Given the description of an element on the screen output the (x, y) to click on. 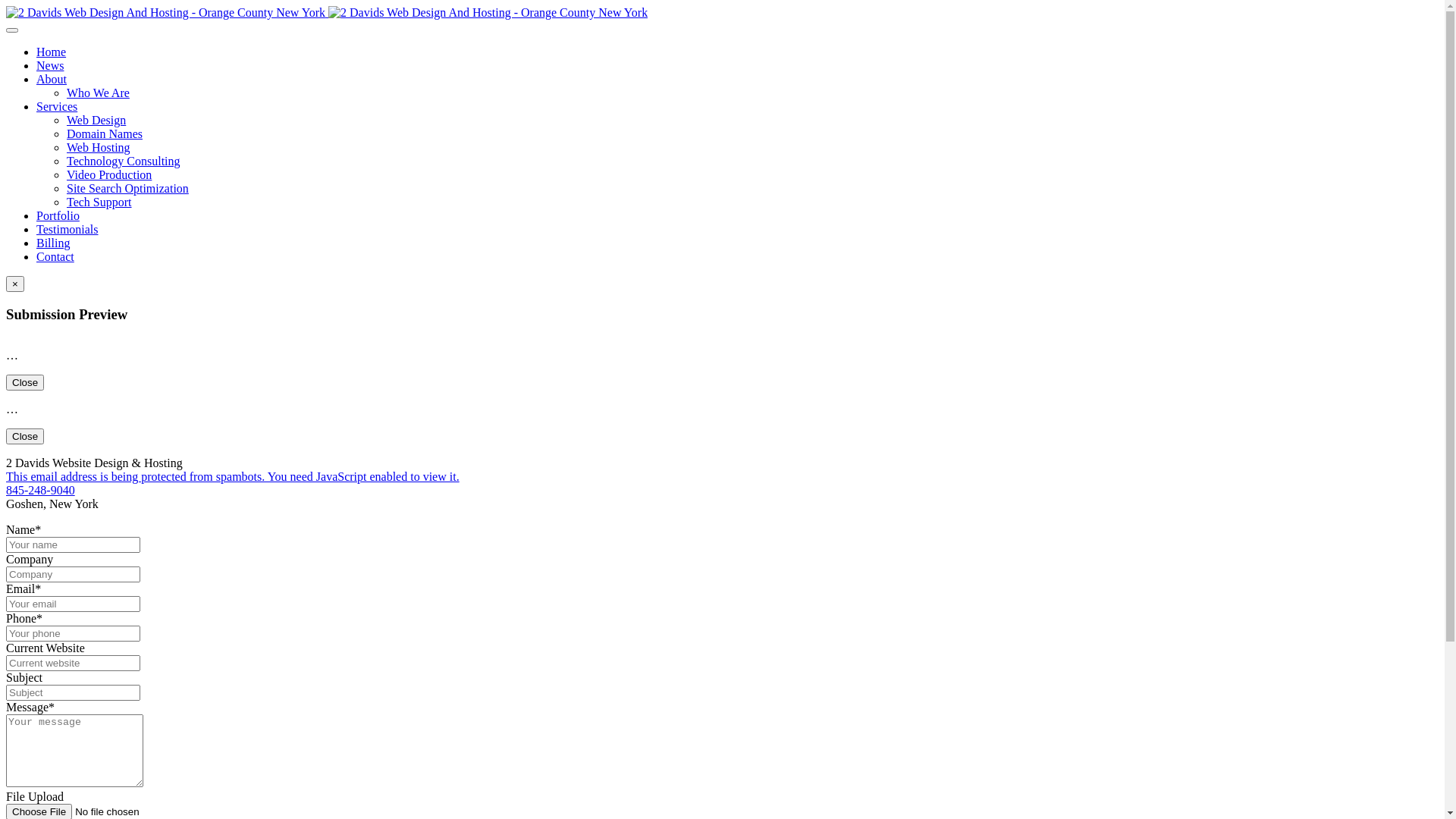
News Element type: text (49, 65)
Close Element type: text (24, 436)
845-248-9040 Element type: text (40, 489)
Web Hosting Element type: text (98, 147)
Close Element type: text (24, 382)
Tech Support Element type: text (98, 201)
Portfolio Element type: text (57, 215)
Domain Names Element type: text (104, 133)
Testimonials Element type: text (67, 228)
Technology Consulting Element type: text (123, 160)
Services Element type: text (56, 106)
Video Production Element type: text (108, 174)
Billing Element type: text (52, 242)
Home Element type: text (50, 51)
Site Search Optimization Element type: text (127, 188)
About Element type: text (51, 78)
Web Design Element type: text (95, 119)
2 Davids Web Design And Hosting - Orange County New York Element type: hover (326, 12)
Contact Element type: text (55, 256)
Who We Are Element type: text (97, 92)
